Given the description of an element on the screen output the (x, y) to click on. 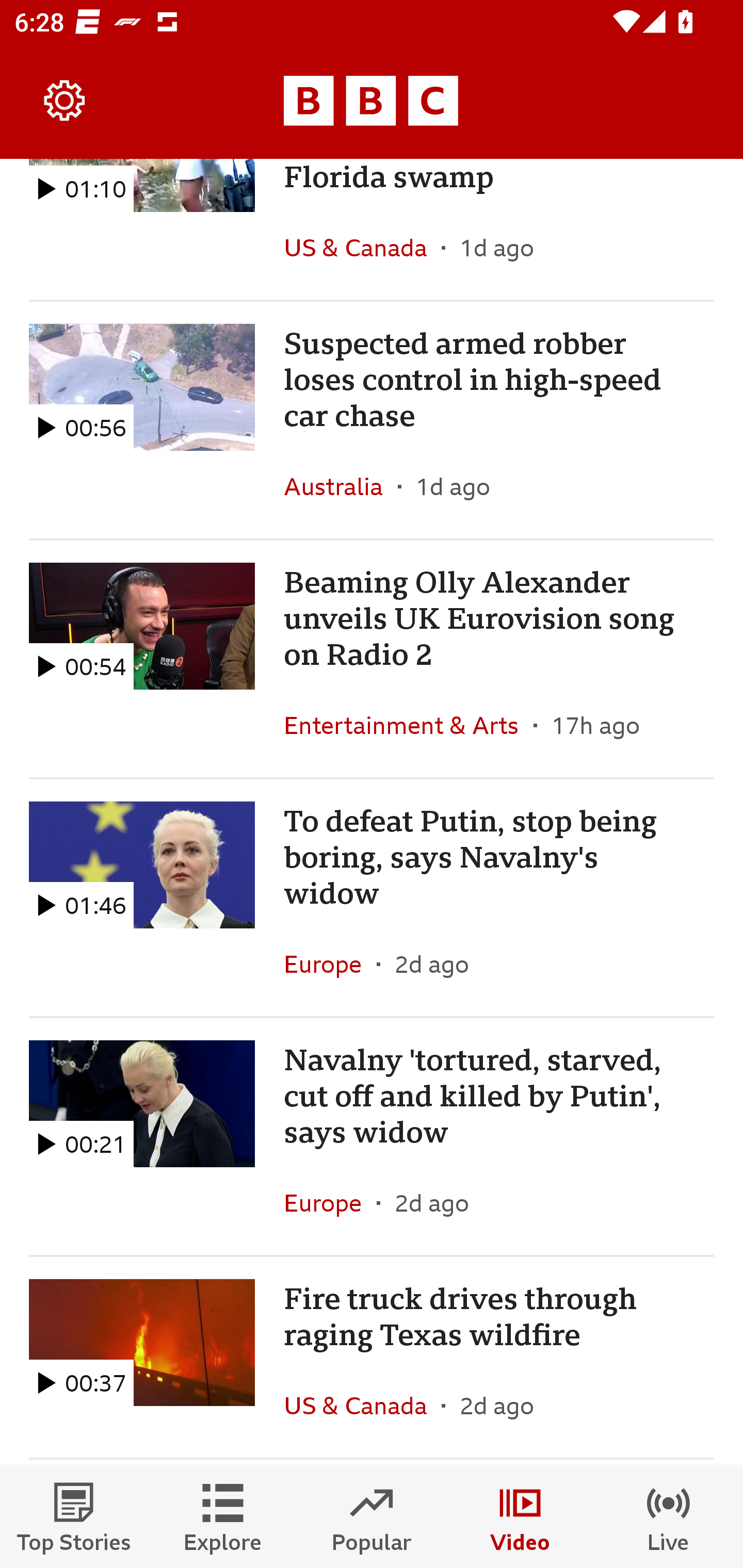
Settings (64, 100)
US & Canada In the section US & Canada (362, 247)
Australia In the section Australia (340, 485)
Europe In the section Europe (329, 964)
Europe In the section Europe (329, 1202)
US & Canada In the section US & Canada (362, 1405)
Top Stories (74, 1517)
Explore (222, 1517)
Popular (371, 1517)
Live (668, 1517)
